Given the description of an element on the screen output the (x, y) to click on. 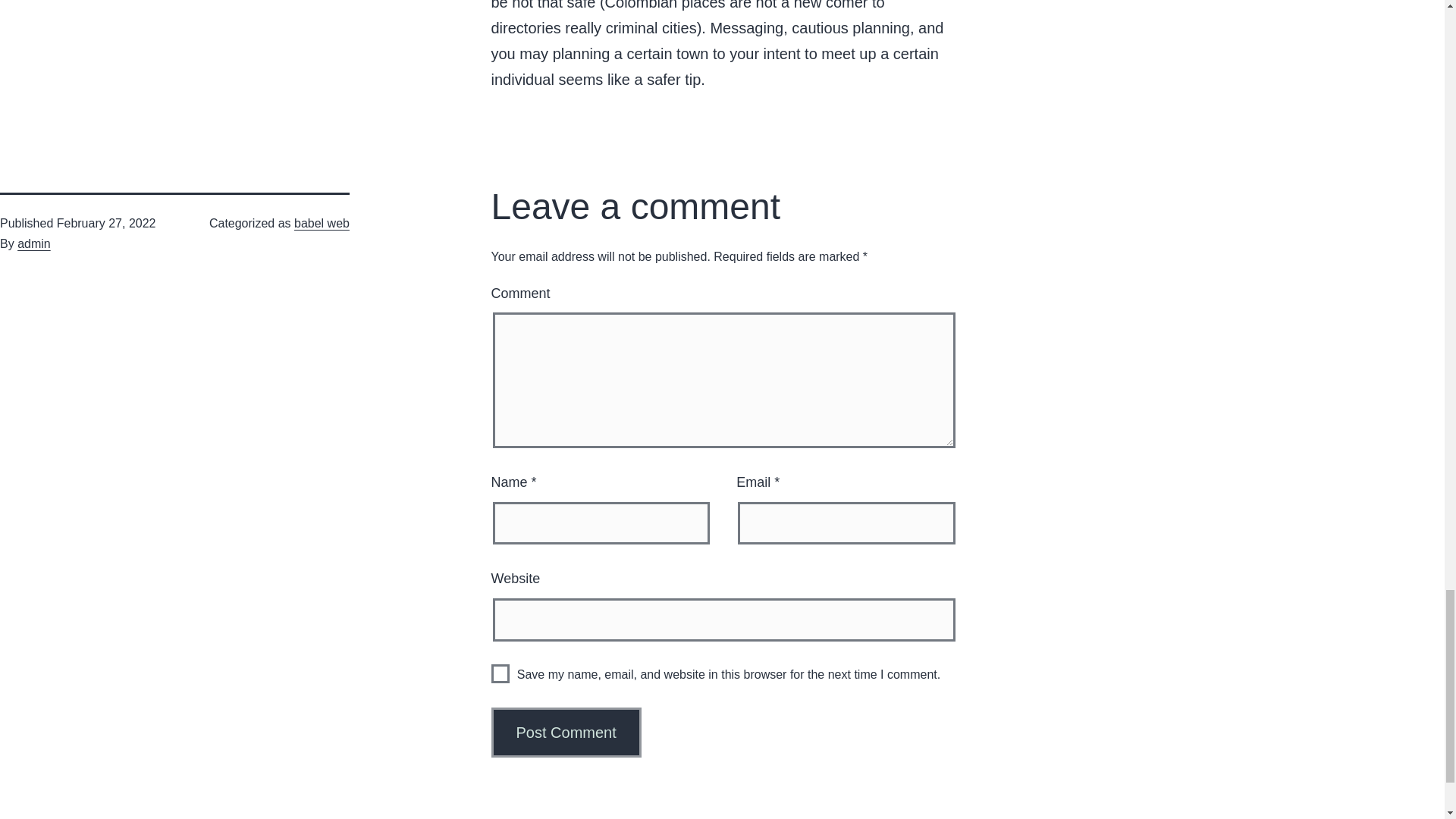
babel web (321, 223)
Post Comment (567, 732)
Post Comment (567, 732)
admin (33, 243)
yes (500, 673)
